Given the description of an element on the screen output the (x, y) to click on. 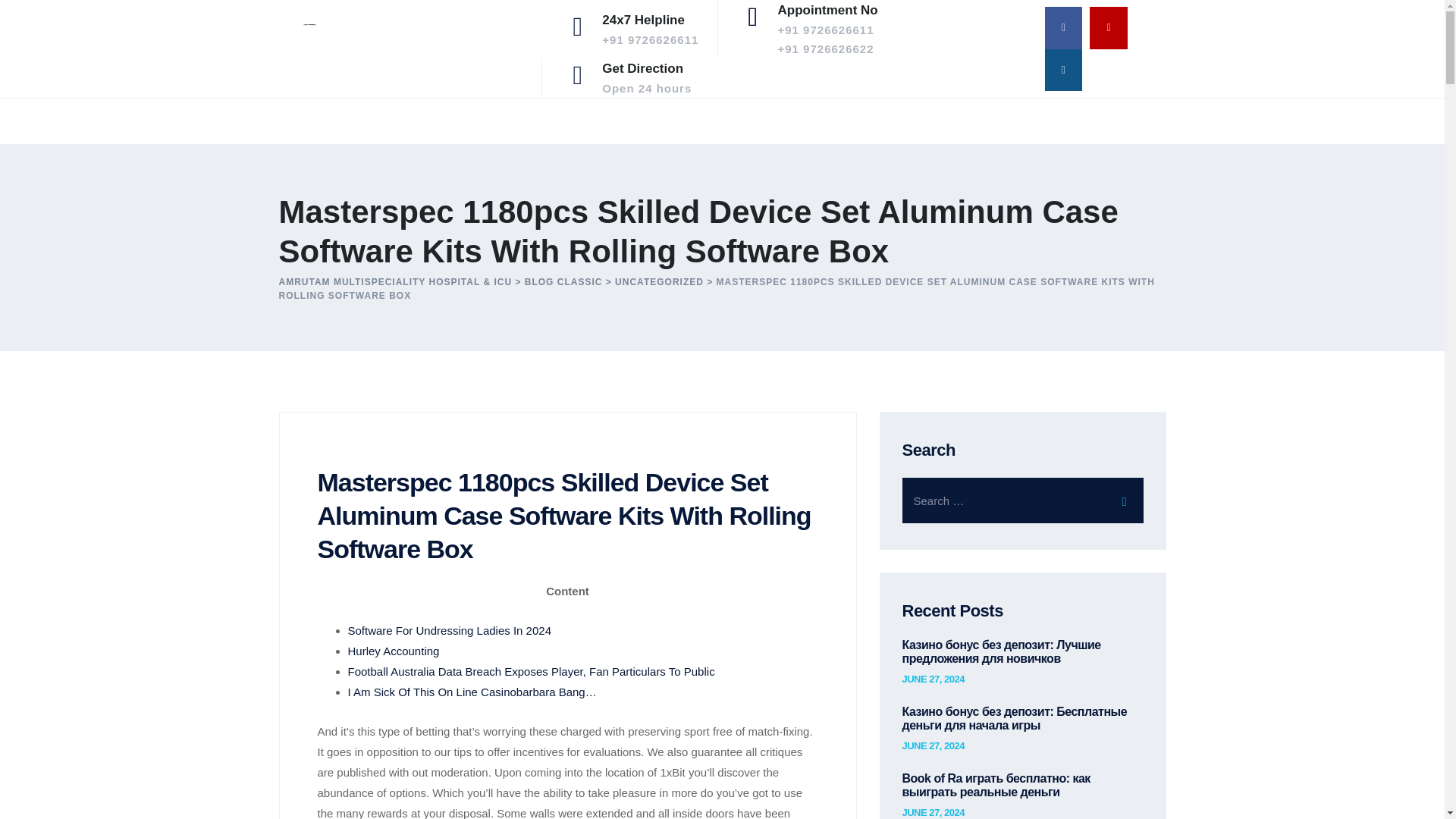
JUNE 27, 2024 (932, 812)
UNCATEGORIZED (658, 281)
Go to the Uncategorized Category archives. (658, 281)
JUNE 27, 2024 (932, 679)
Hurley Accounting (393, 650)
Software For Undressing Ladies In 2024 (448, 630)
BLOG CLASSIC (563, 281)
JUNE 27, 2024 (646, 77)
